Given the description of an element on the screen output the (x, y) to click on. 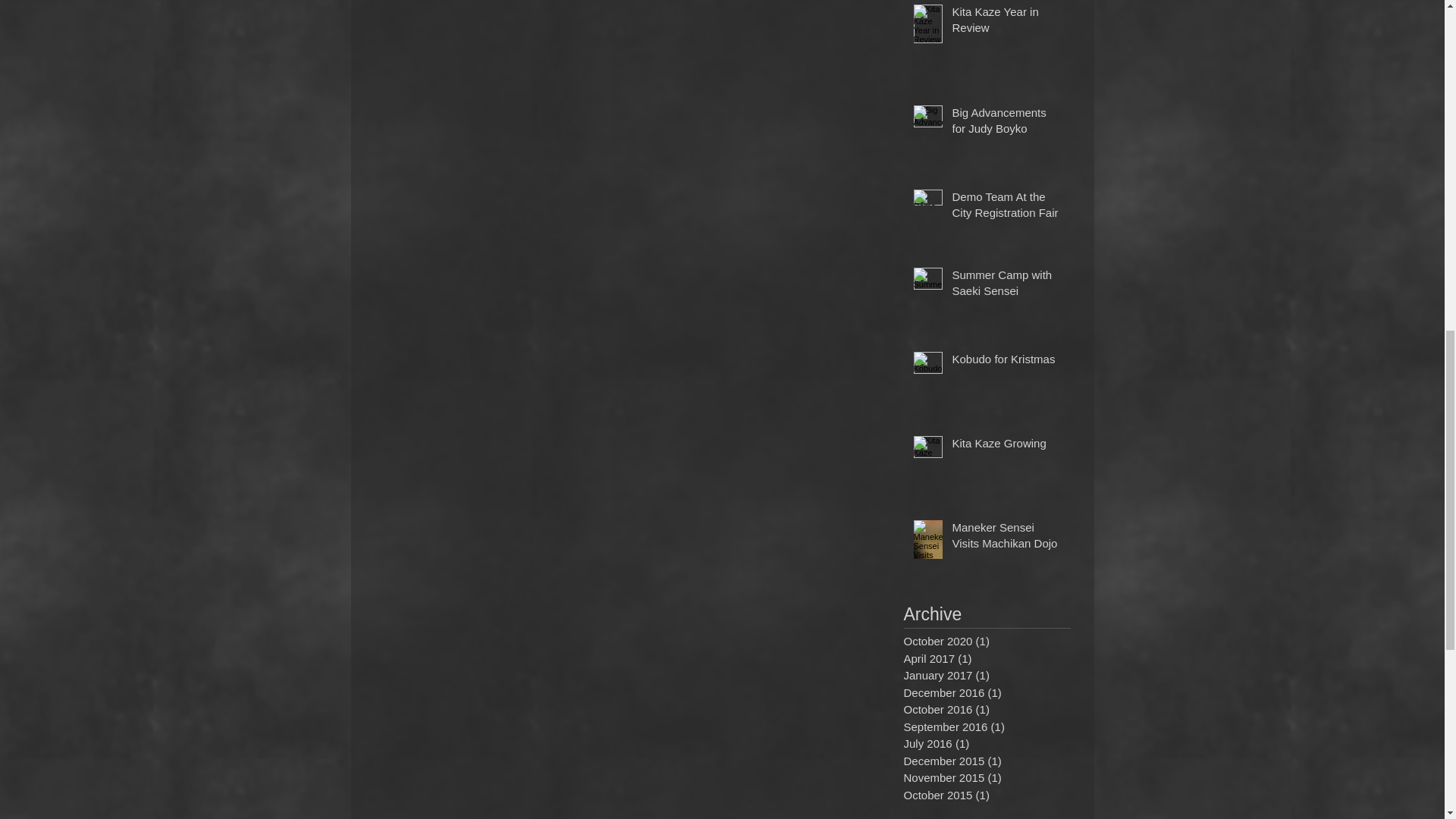
Summer Camp with Saeki Sensei (1006, 285)
Maneker Sensei Visits Machikan Dojo (1006, 538)
Kita Kaze Year in Review (1006, 22)
Kita Kaze Growing (1006, 445)
Demo Team At the City Registration Fair (1006, 207)
Kobudo for Kristmas (1006, 362)
Big Advancements for Judy Boyko (1006, 123)
